Given the description of an element on the screen output the (x, y) to click on. 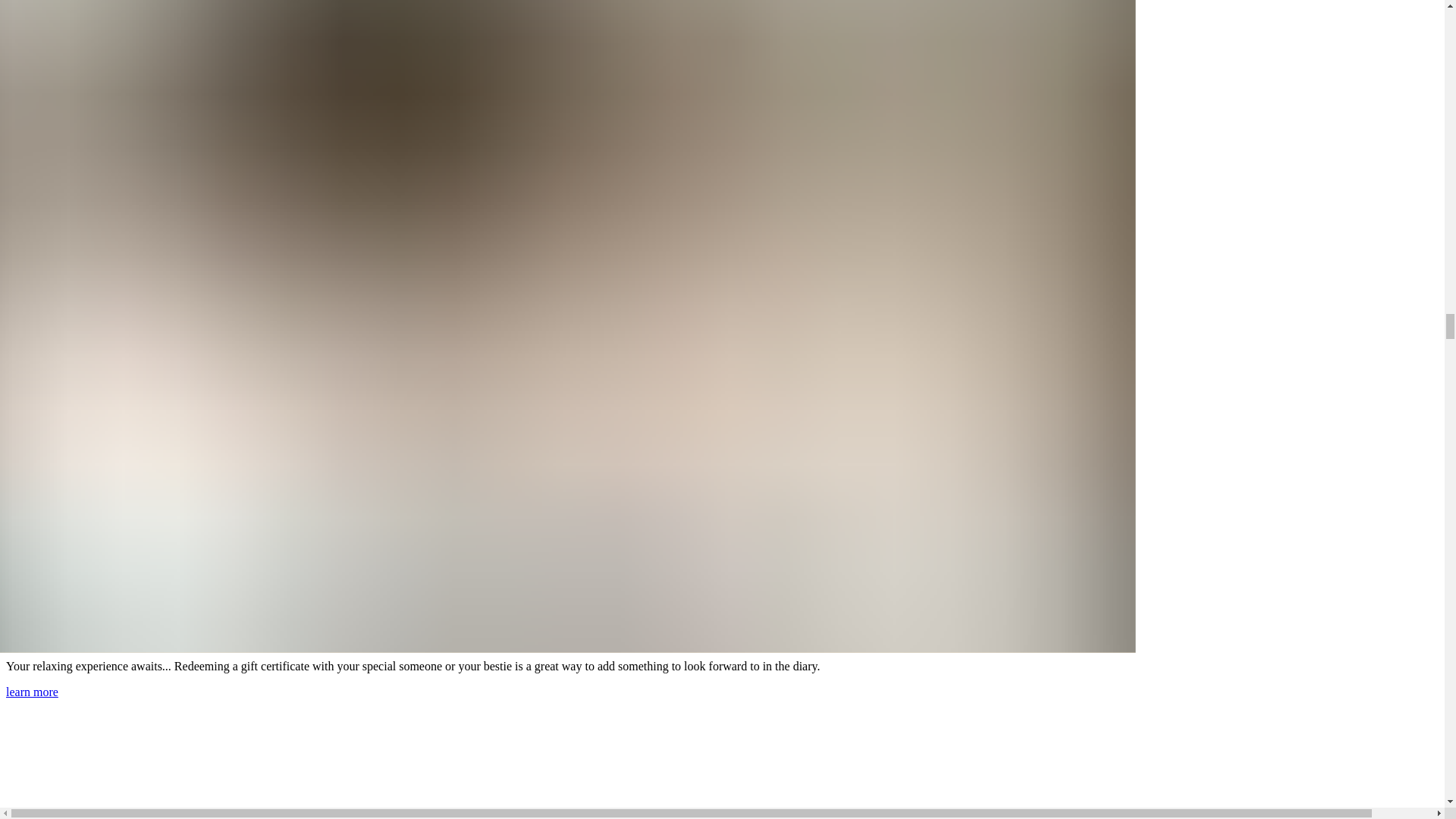
learn more (31, 691)
